Given the description of an element on the screen output the (x, y) to click on. 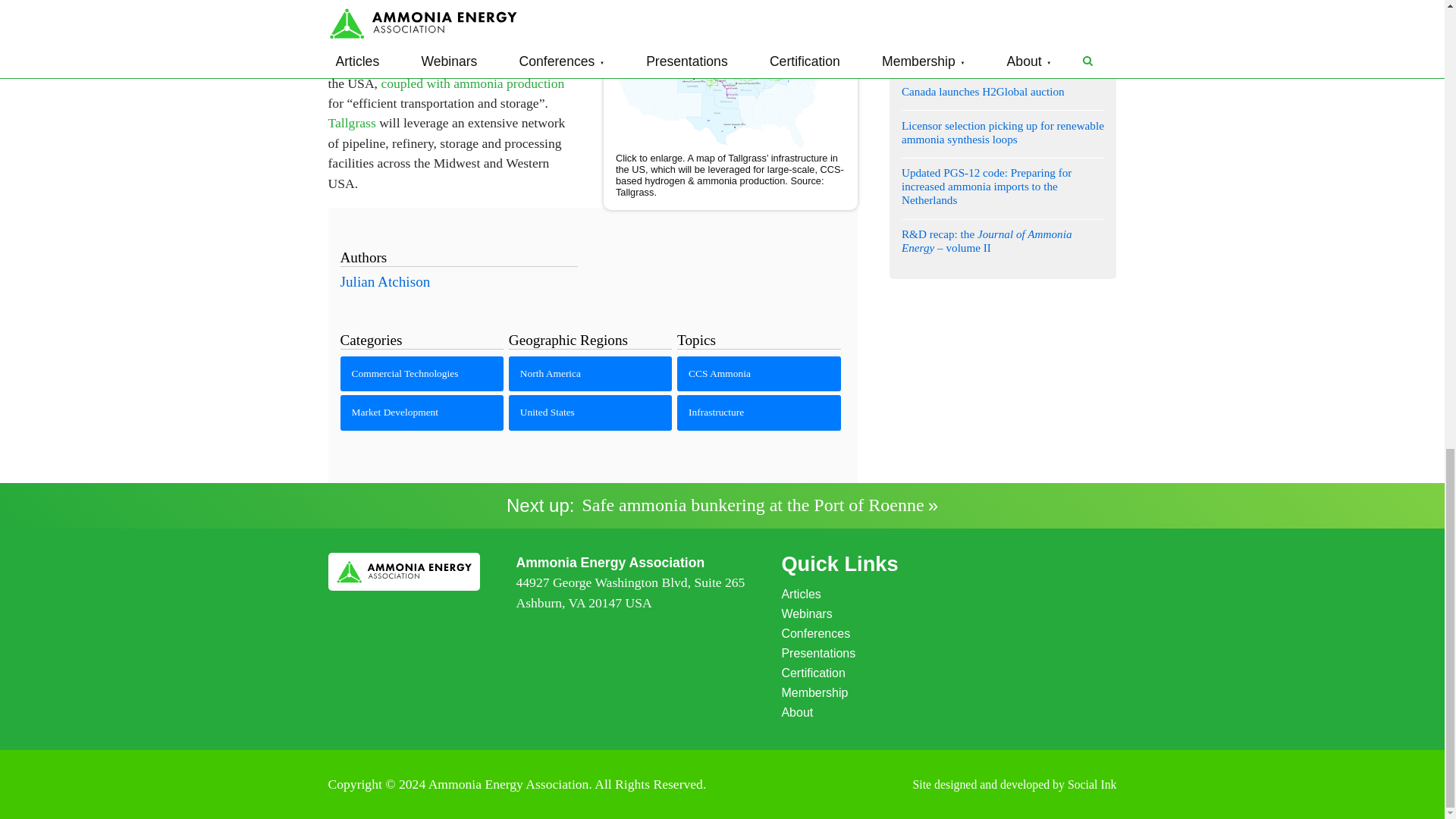
See other items in Market Development Categories (421, 411)
See other items in United States Geographic Regions (590, 411)
See other items in CCS Ammonia Topics (759, 373)
See other items in North America Geographic Regions (590, 373)
See other items in Infrastructure Topics (759, 411)
See other items in Commercial Technologies Categories (421, 373)
